Given the description of an element on the screen output the (x, y) to click on. 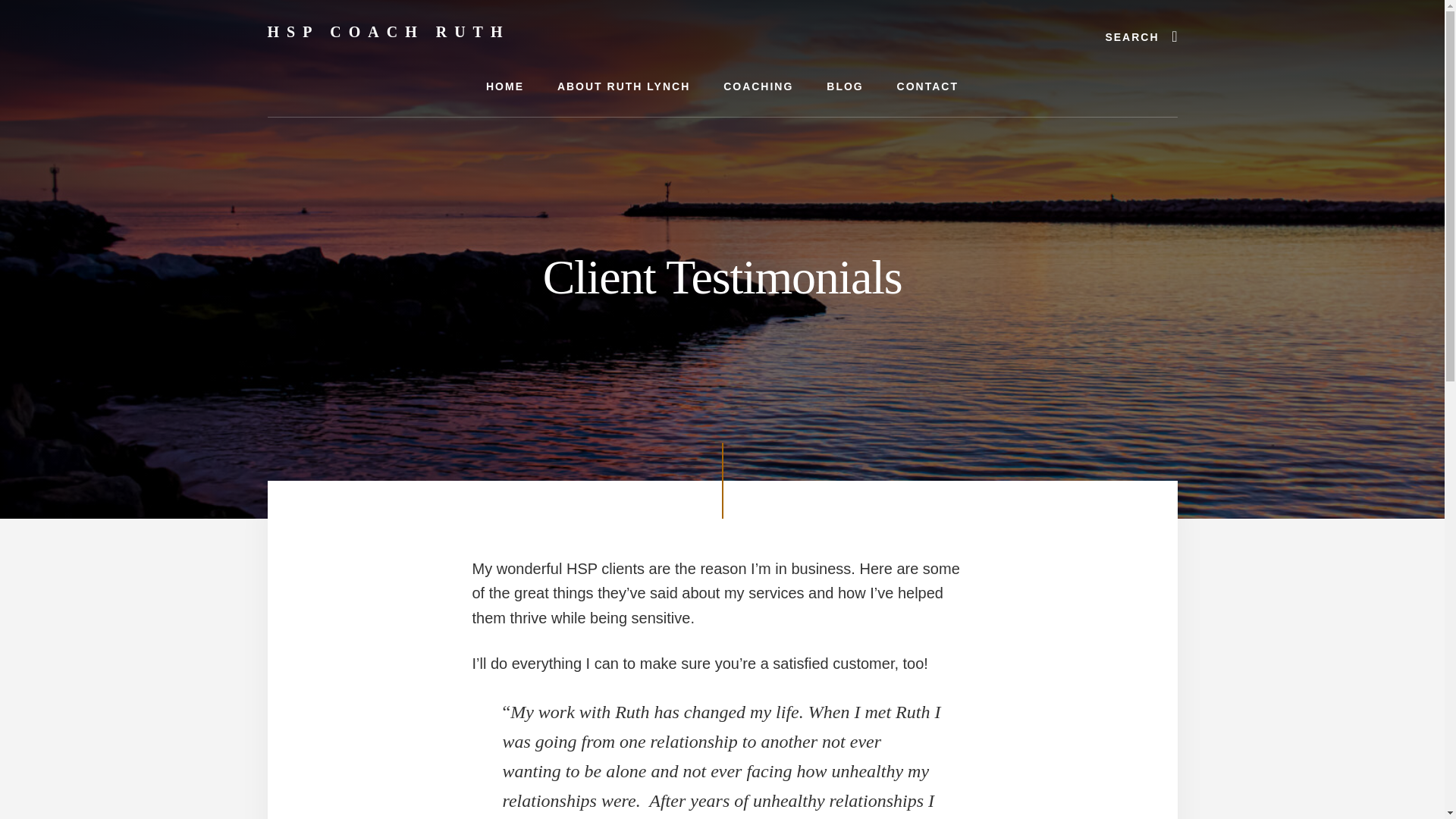
ABOUT RUTH LYNCH (622, 86)
HSP COACH RUTH (387, 31)
BLOG (843, 86)
HOME (504, 86)
COACHING (757, 86)
CONTACT (928, 86)
